Given the description of an element on the screen output the (x, y) to click on. 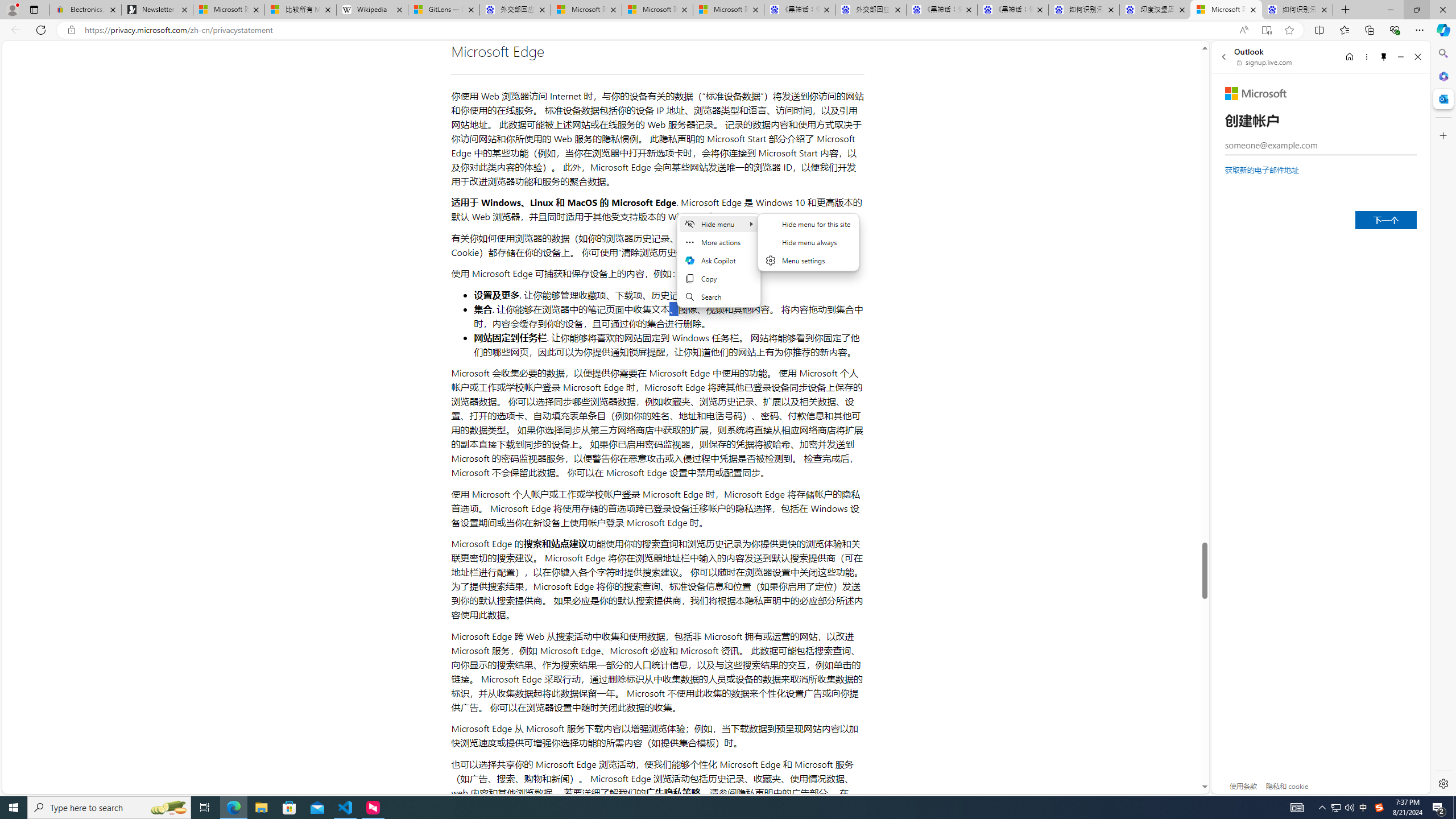
Newsletter Sign Up (157, 9)
Hide menu for this site (808, 223)
More actions (718, 242)
Mini menu on text selection (718, 260)
